Given the description of an element on the screen output the (x, y) to click on. 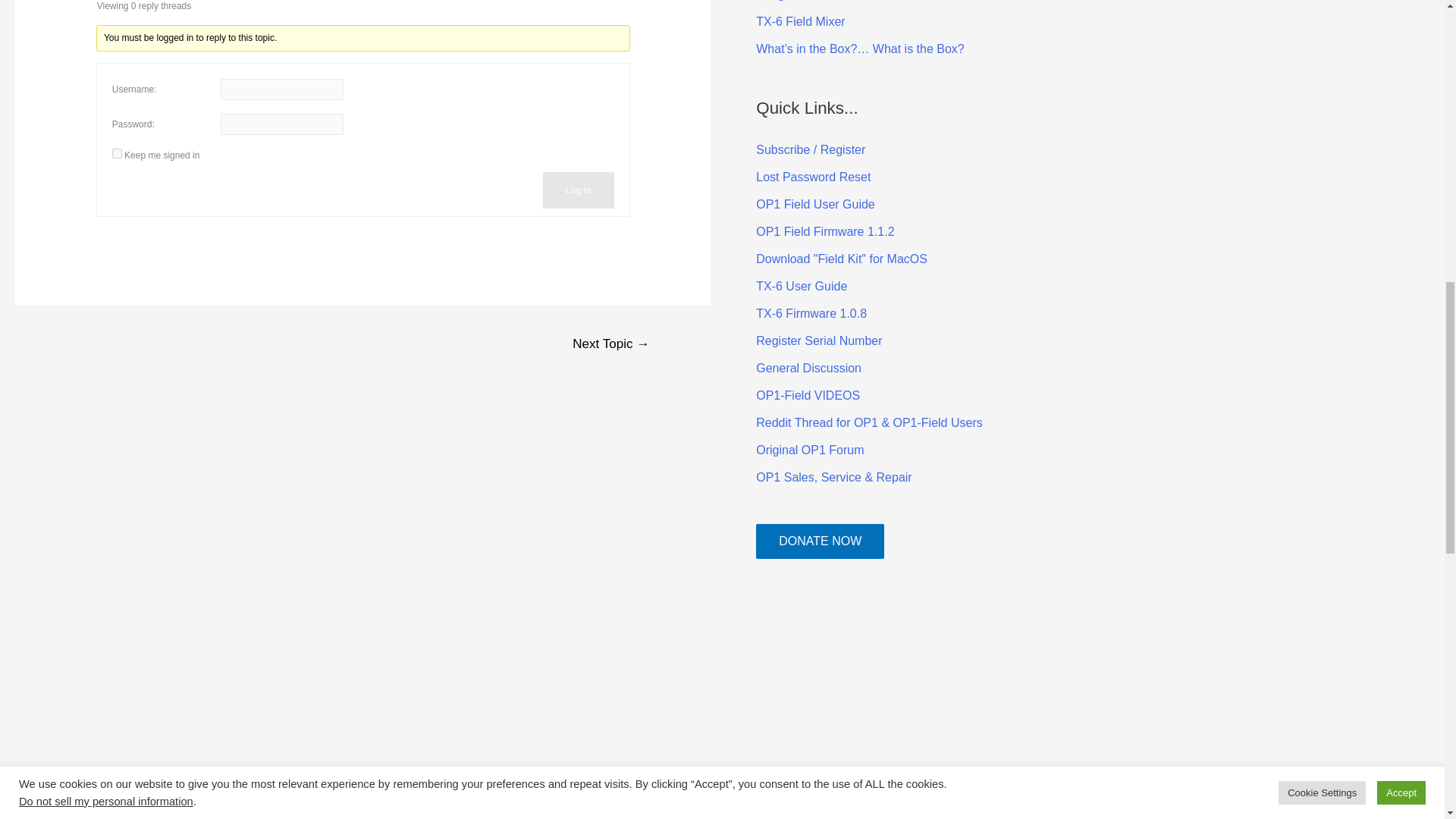
TX-6 Field Mixer (799, 21)
forever (117, 153)
Log In (577, 189)
